Given the description of an element on the screen output the (x, y) to click on. 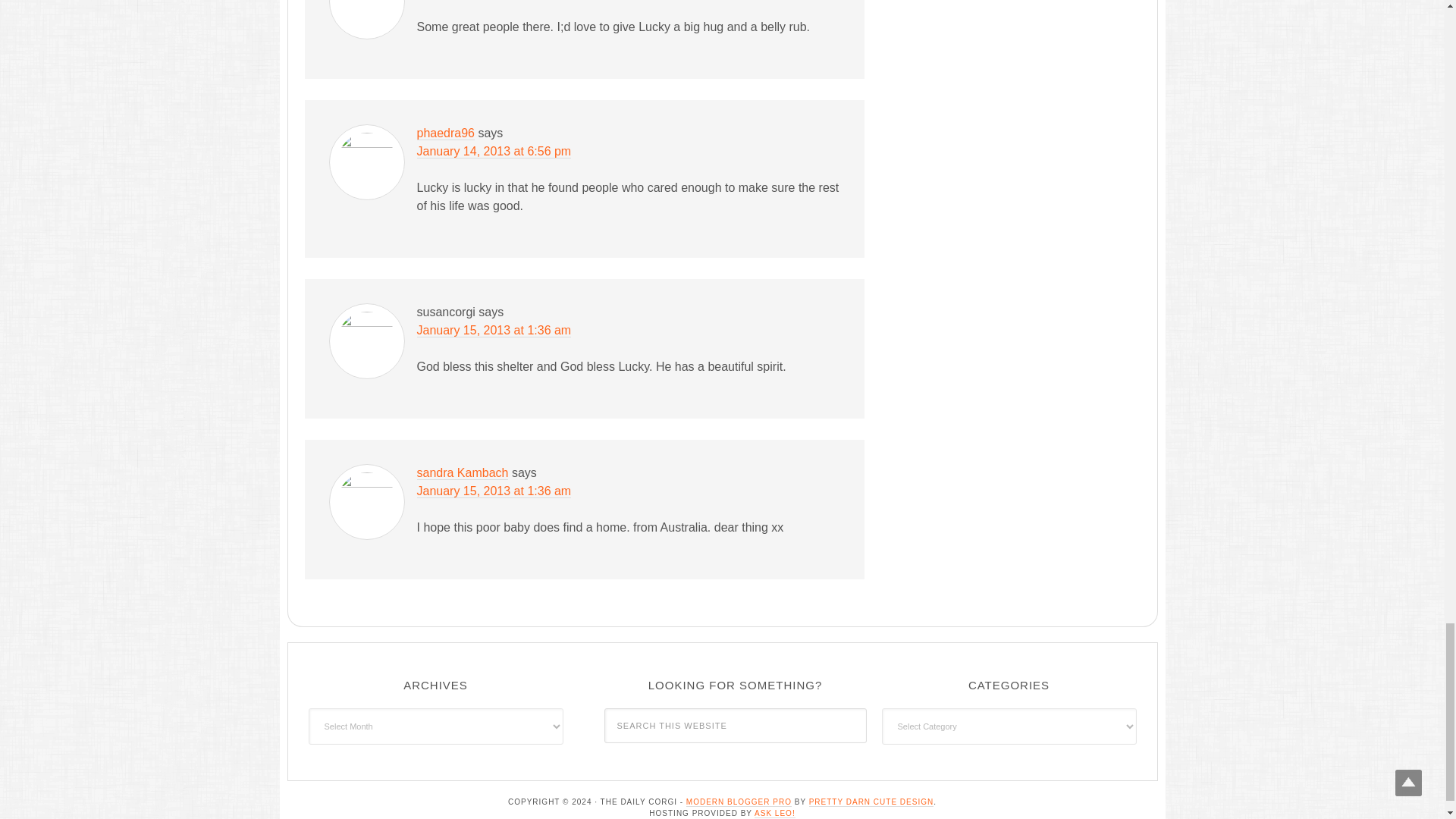
phaedra96 (446, 133)
